Given the description of an element on the screen output the (x, y) to click on. 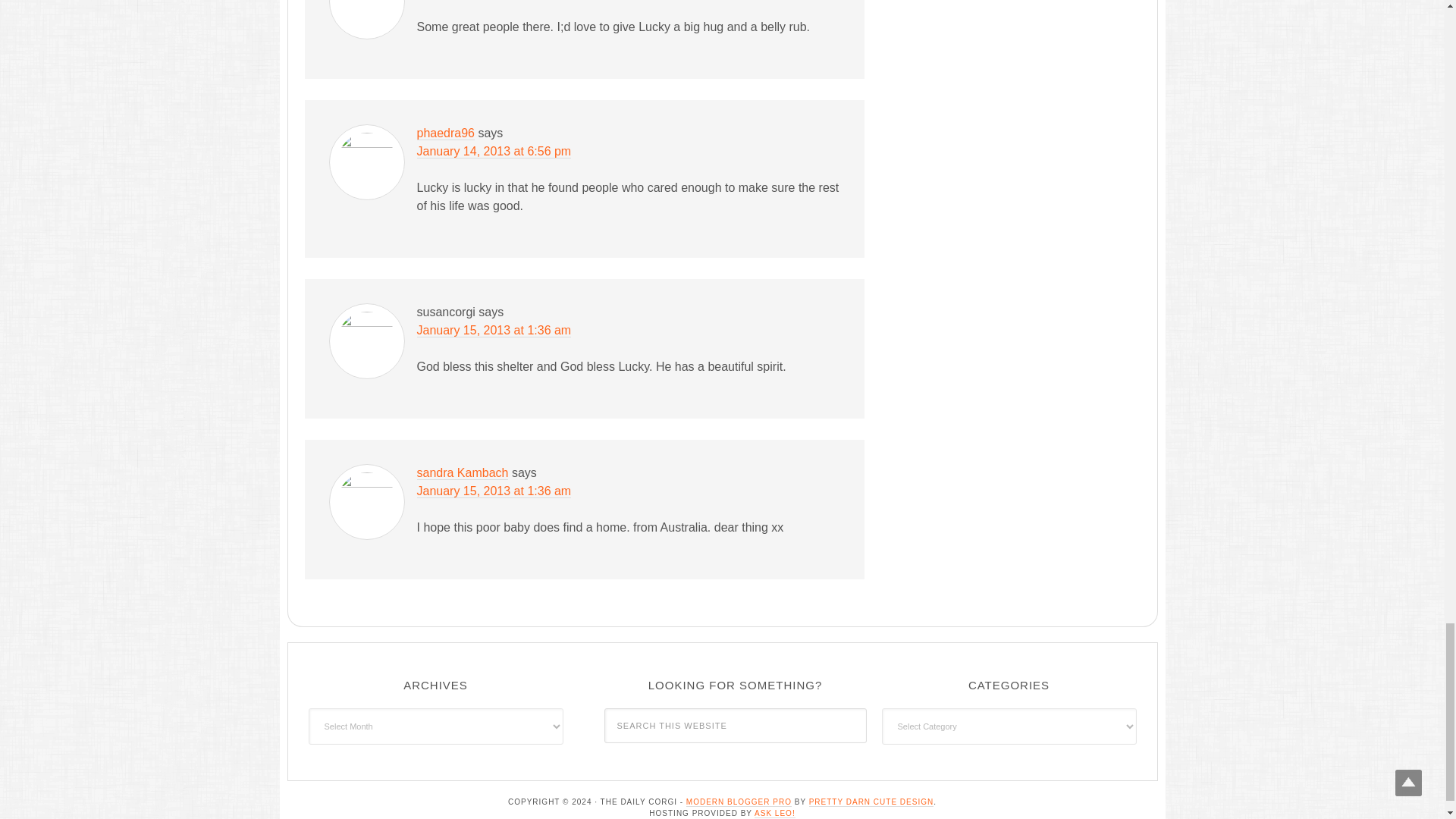
phaedra96 (446, 133)
